Given the description of an element on the screen output the (x, y) to click on. 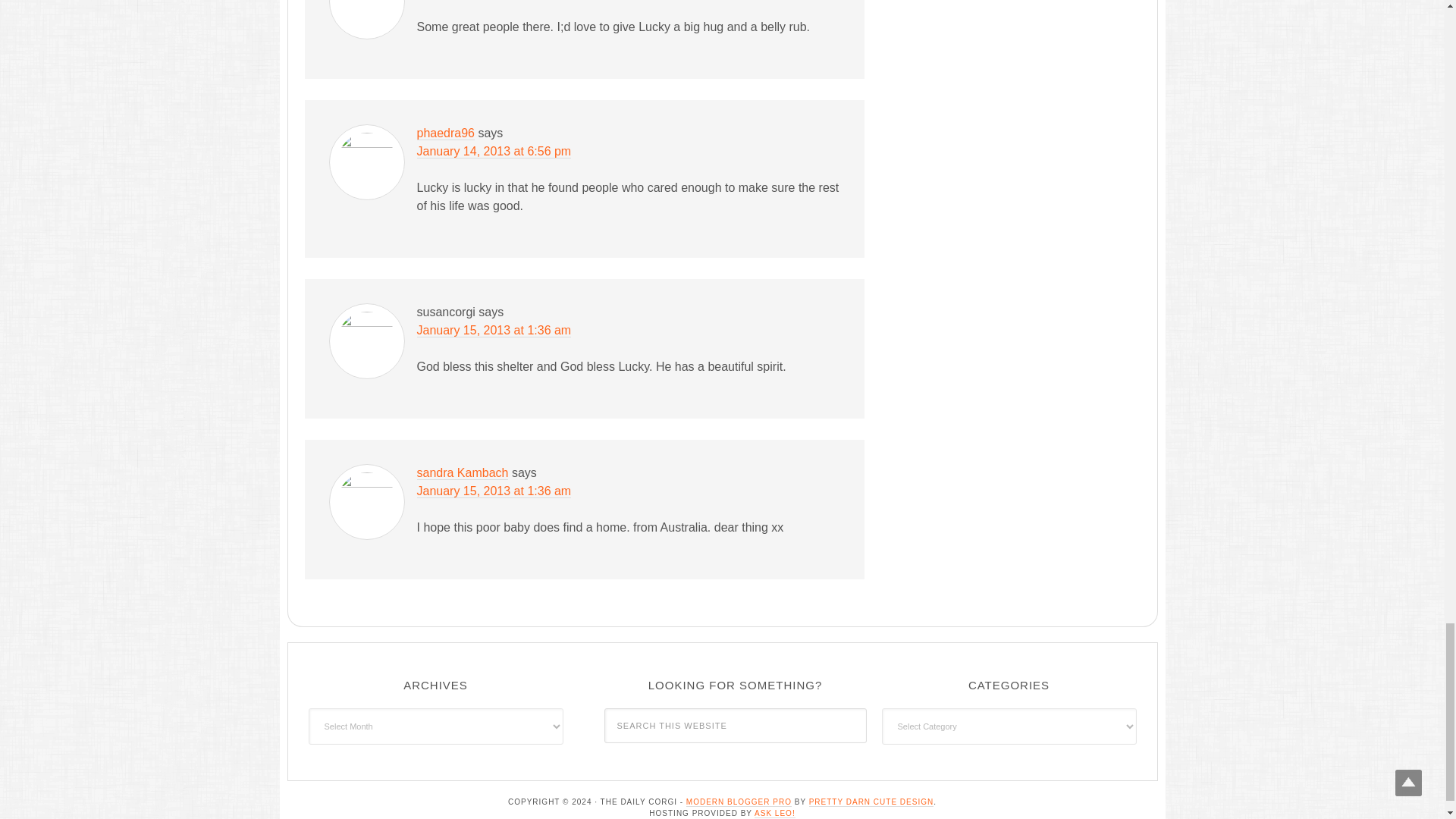
phaedra96 (446, 133)
